Given the description of an element on the screen output the (x, y) to click on. 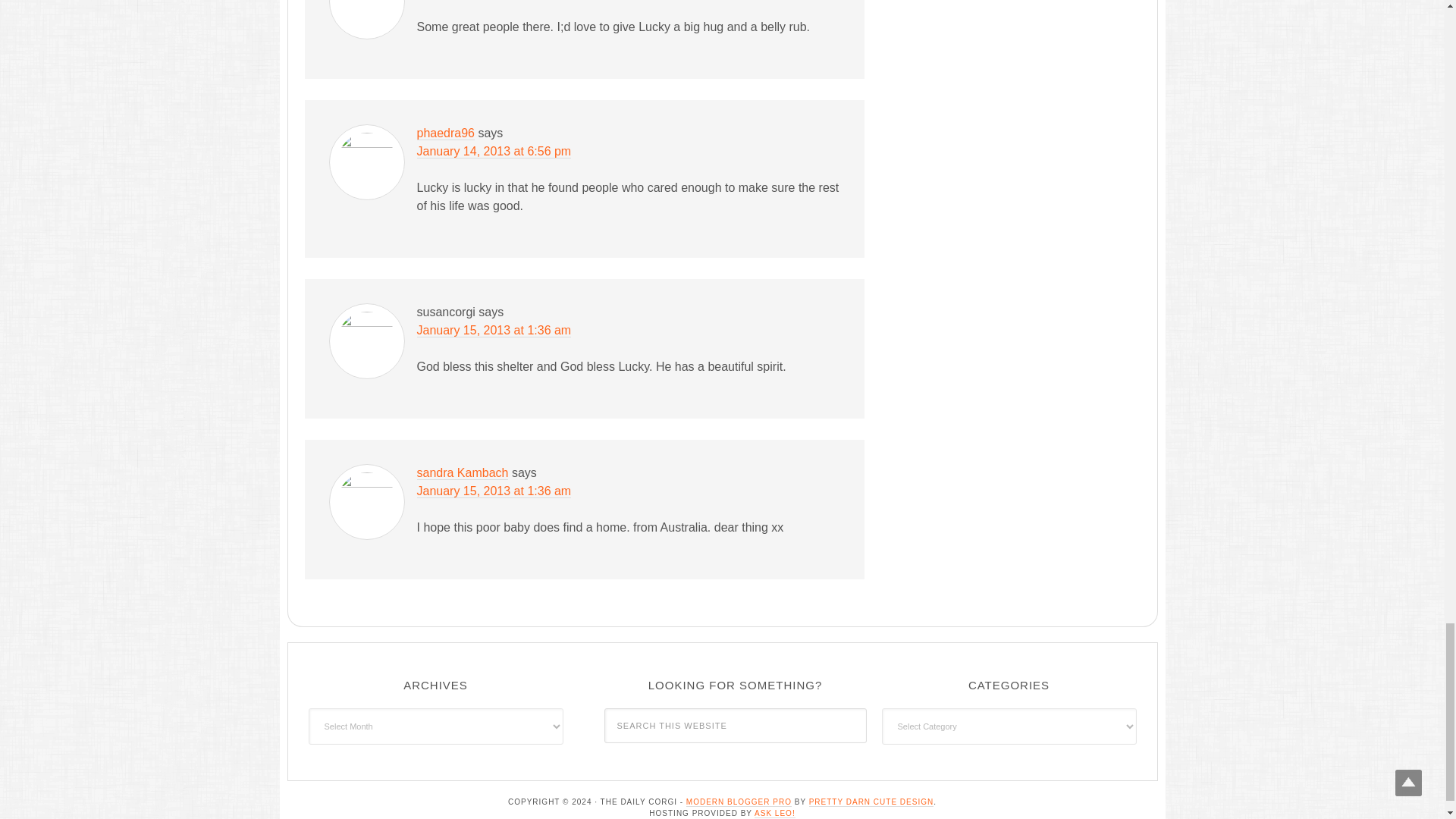
phaedra96 (446, 133)
